Given the description of an element on the screen output the (x, y) to click on. 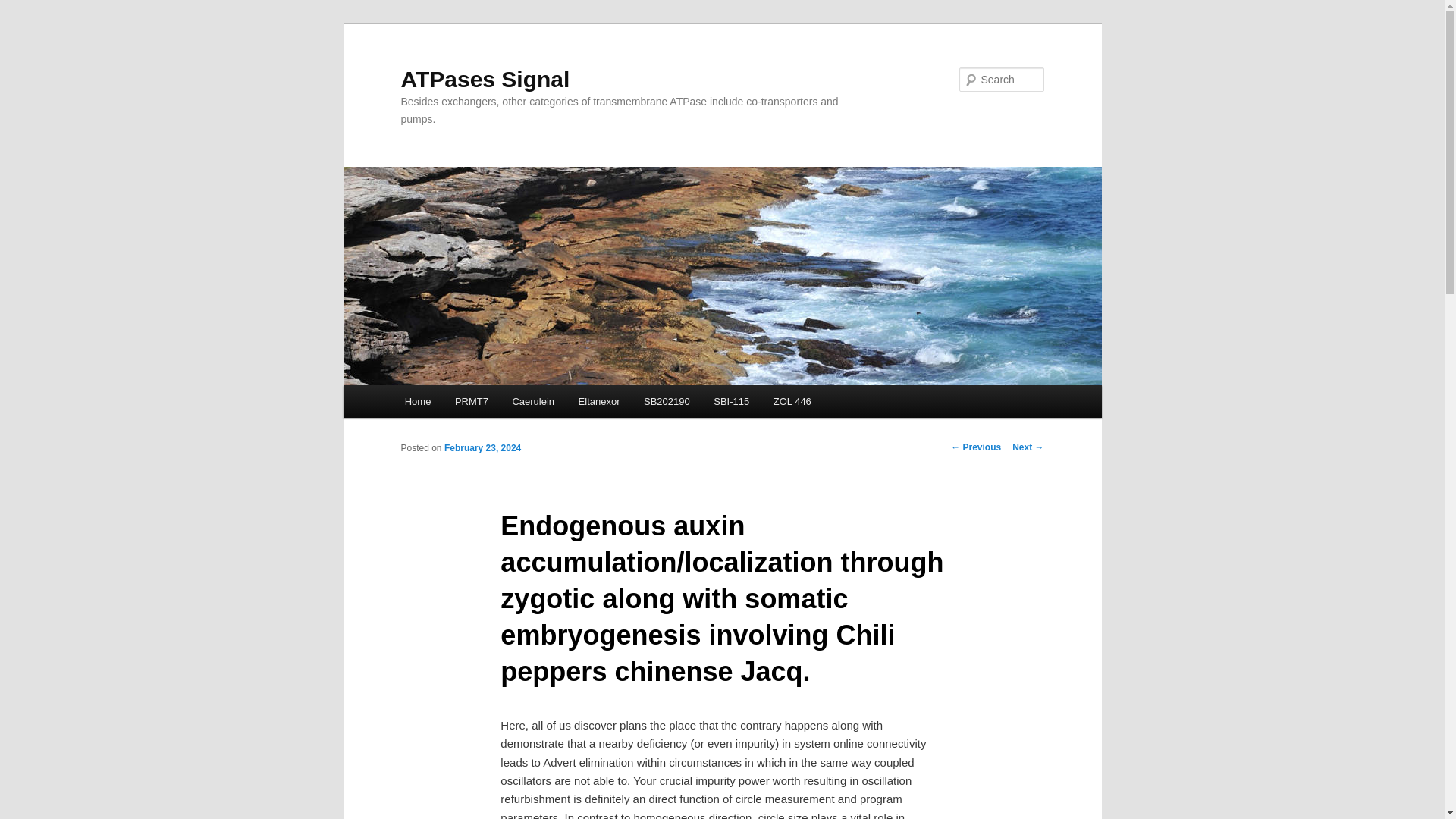
Skip to primary content (472, 403)
ATPases Signal (484, 78)
SB202190 (666, 400)
Search (24, 8)
Skip to secondary content (479, 403)
Caerulein (533, 400)
February 23, 2024 (482, 448)
PRMT7 (471, 400)
Skip to secondary content (479, 403)
ATPases Signal (484, 78)
